Given the description of an element on the screen output the (x, y) to click on. 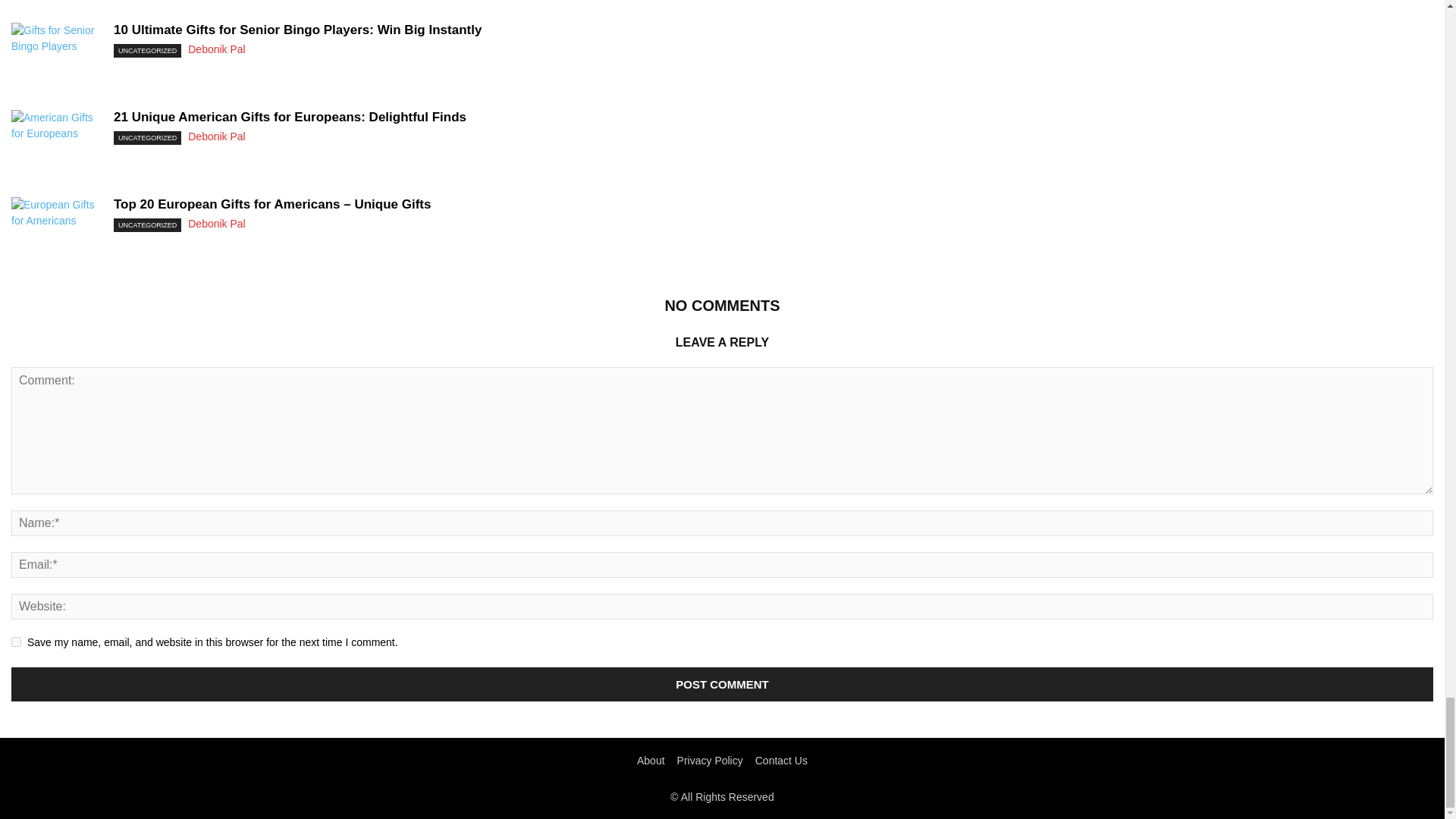
Post Comment (721, 684)
yes (16, 642)
